Given the description of an element on the screen output the (x, y) to click on. 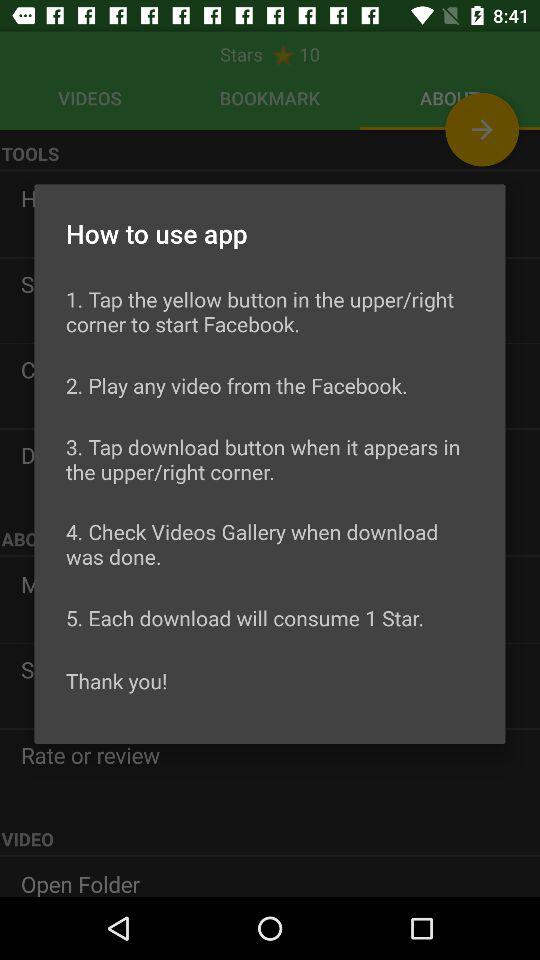
turn off item above thank you! (245, 617)
